Given the description of an element on the screen output the (x, y) to click on. 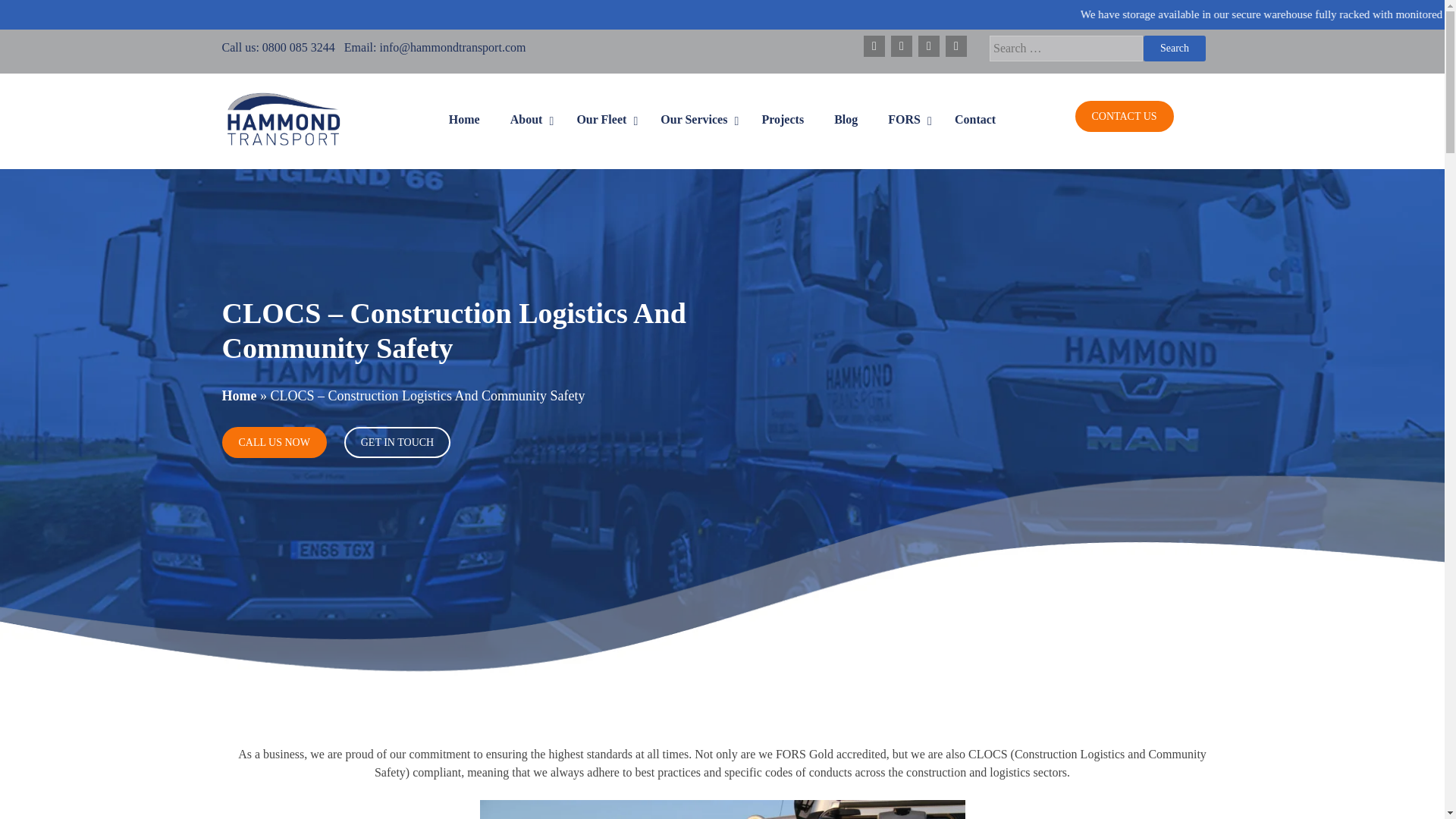
Search (1173, 47)
About (528, 119)
Home (238, 395)
Blog (845, 119)
Our Services (695, 119)
Search (1173, 47)
Projects (781, 119)
CALL US NOW (273, 441)
Our Fleet (602, 119)
Home (464, 119)
Search (1173, 47)
0800 085 3244 (298, 47)
FORS (905, 119)
Contact (974, 119)
CONTACT US (1124, 115)
